Given the description of an element on the screen output the (x, y) to click on. 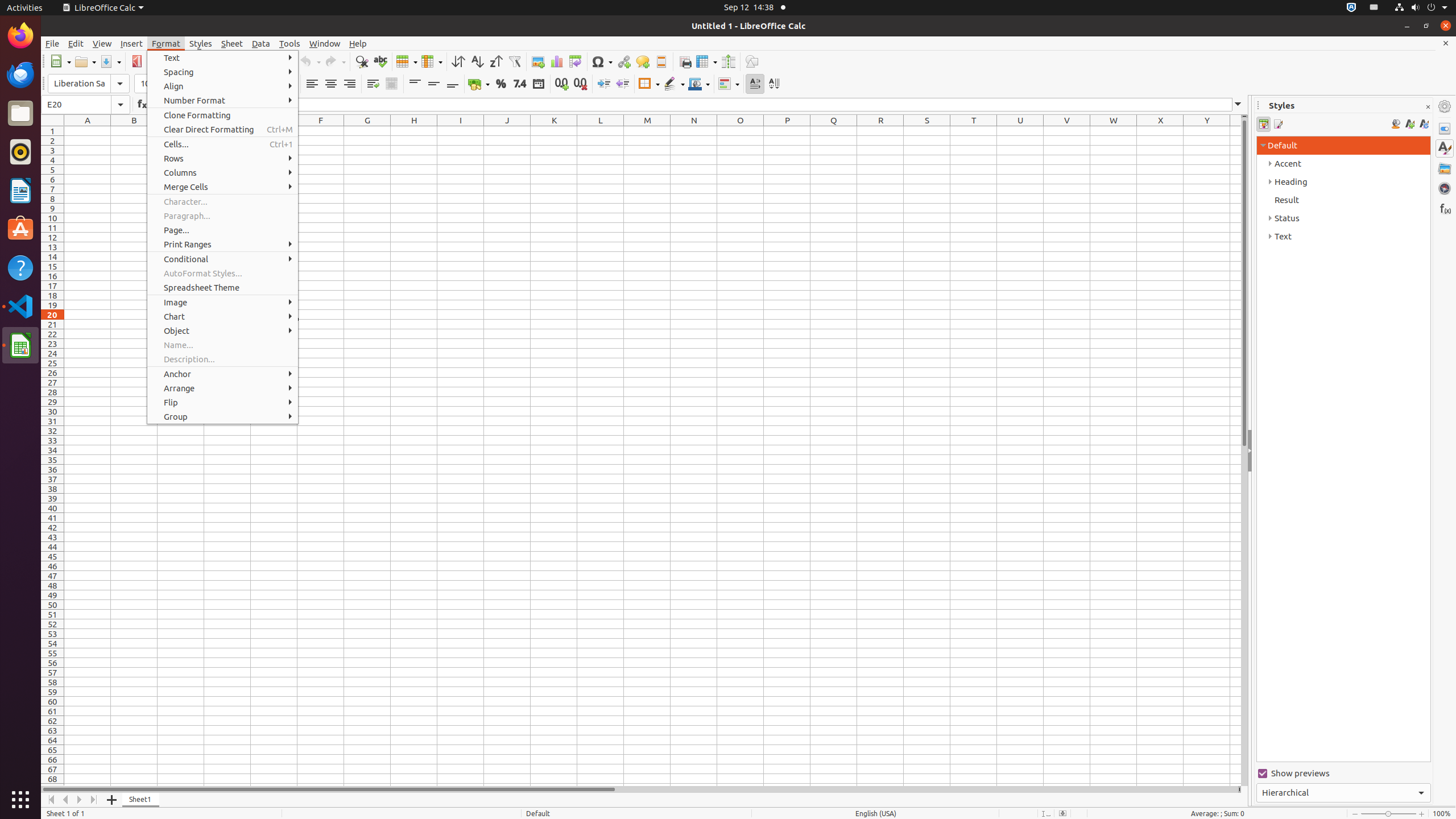
Flip Element type: menu (222, 402)
Functions Element type: radio-button (1444, 208)
Date Element type: push-button (537, 83)
X1 Element type: table-cell (1159, 130)
Save Element type: push-button (109, 61)
